Given the description of an element on the screen output the (x, y) to click on. 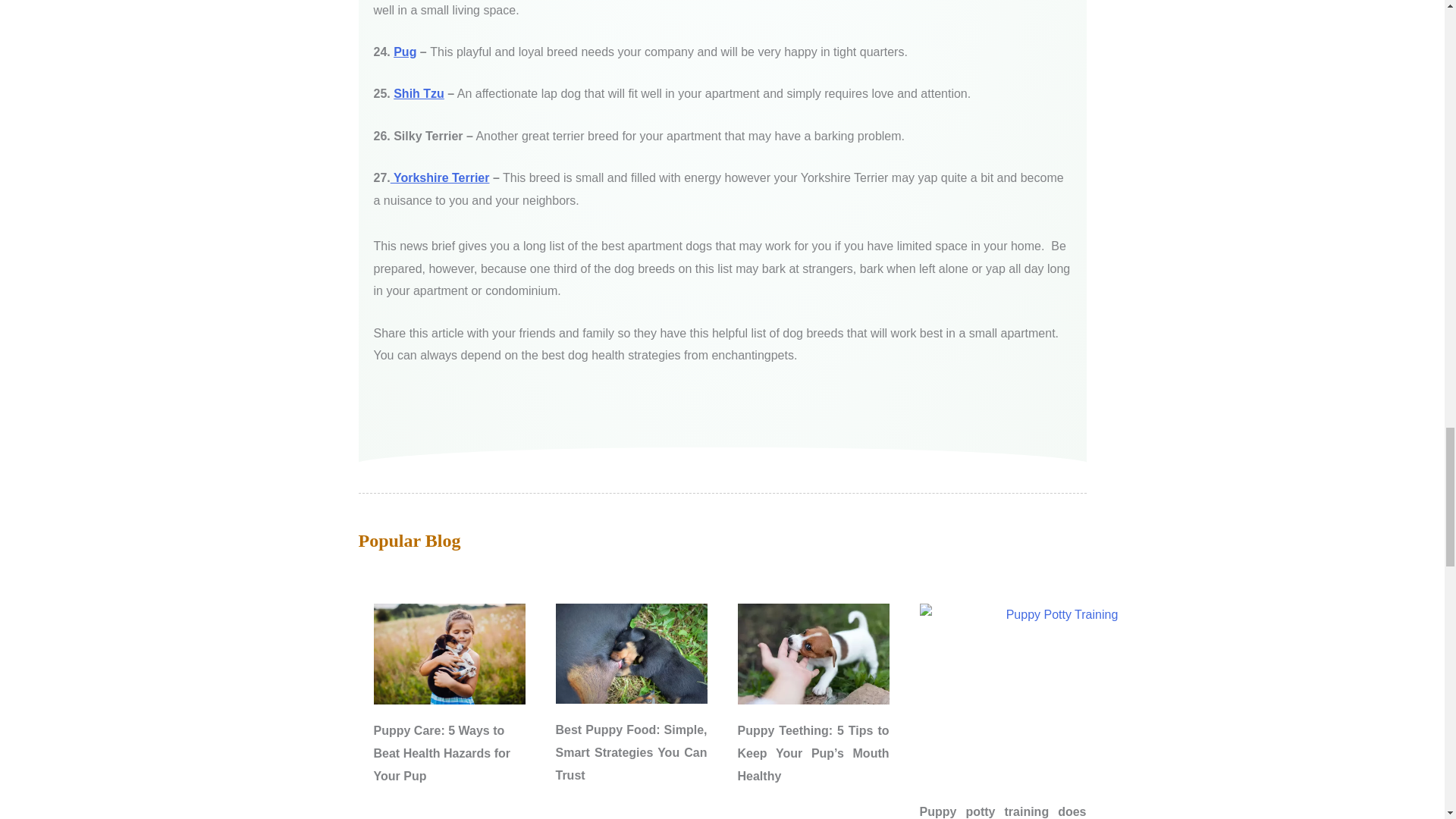
puppy care (630, 653)
puppy care (448, 653)
